Given the description of an element on the screen output the (x, y) to click on. 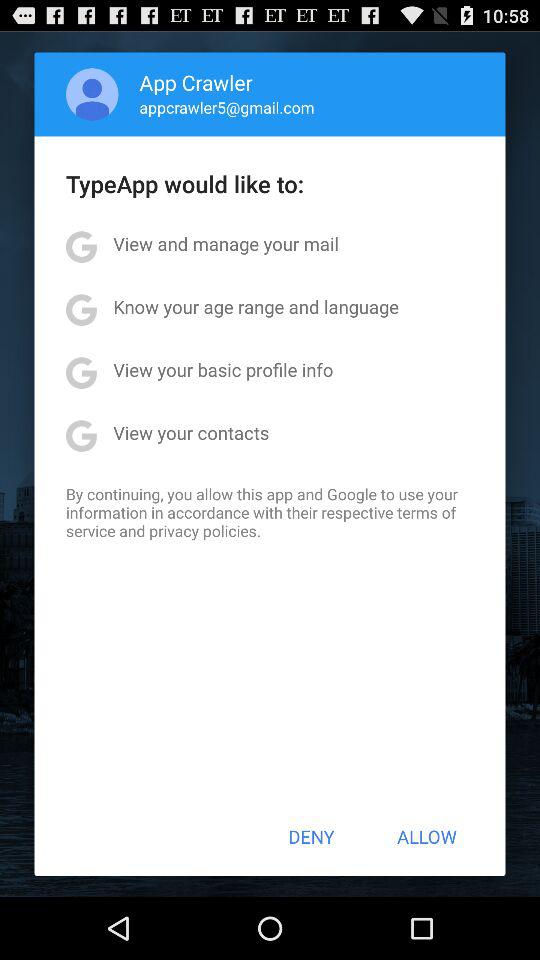
select icon next to app crawler app (92, 94)
